Given the description of an element on the screen output the (x, y) to click on. 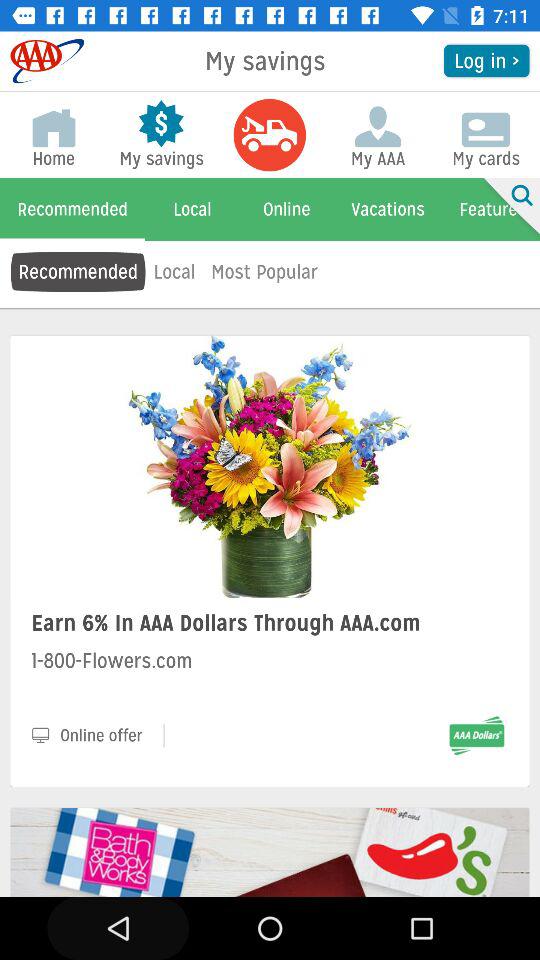
jump until log in > icon (486, 60)
